Given the description of an element on the screen output the (x, y) to click on. 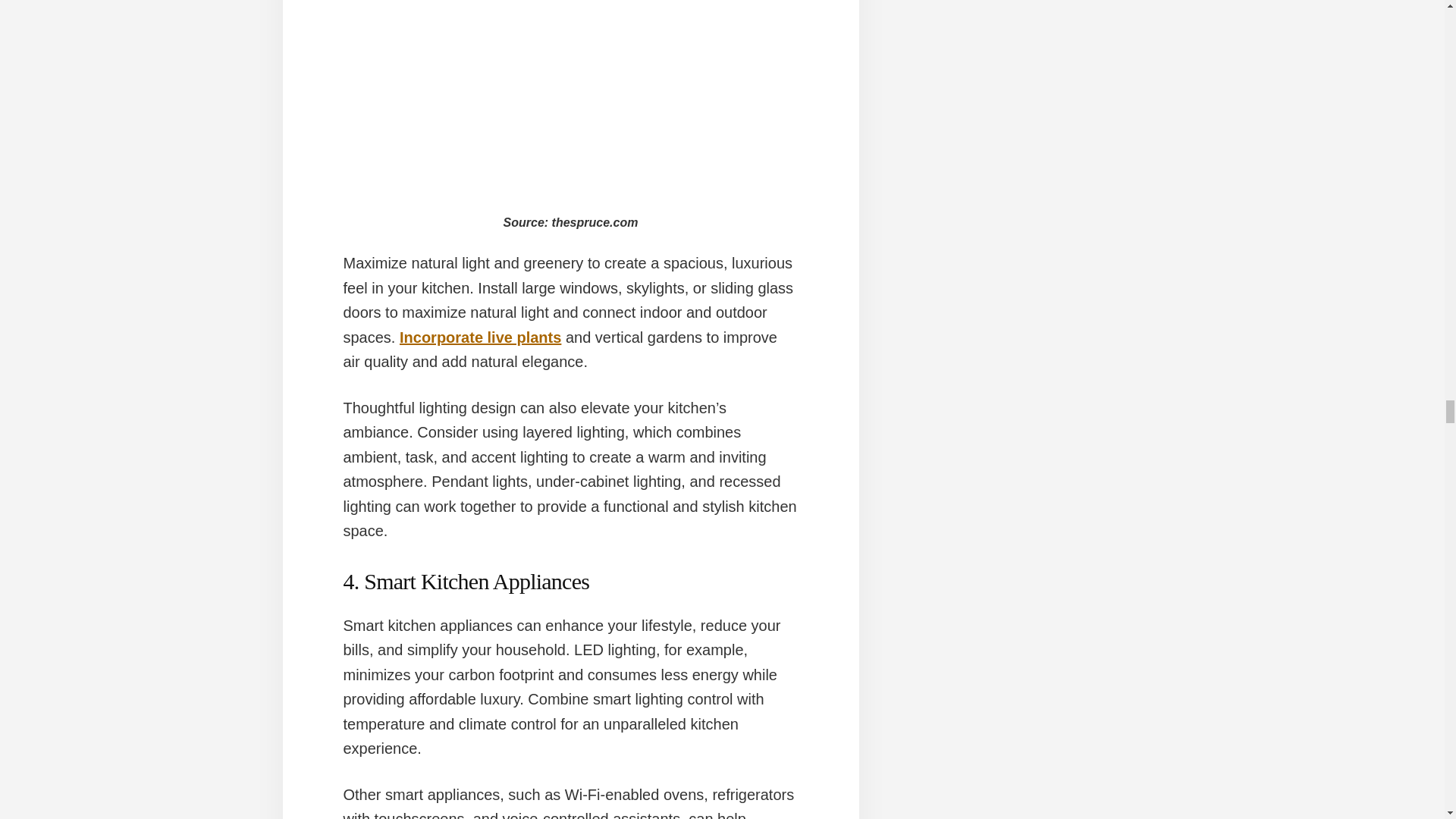
Incorporate live plants (479, 337)
